Given the description of an element on the screen output the (x, y) to click on. 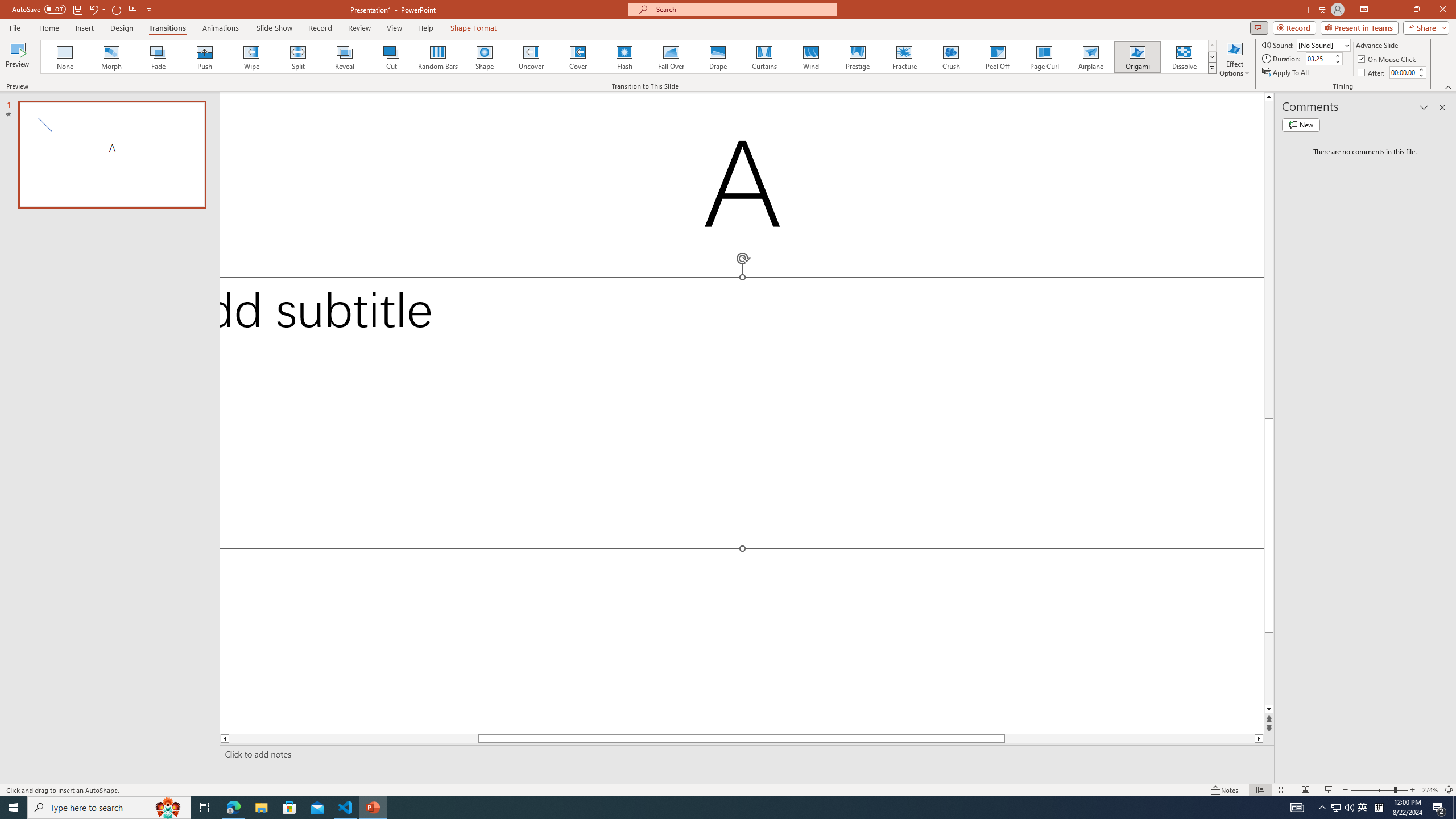
Cover (577, 56)
Airplane (1090, 56)
New comment (1300, 124)
Reveal (344, 56)
Uncover (531, 56)
